Given the description of an element on the screen output the (x, y) to click on. 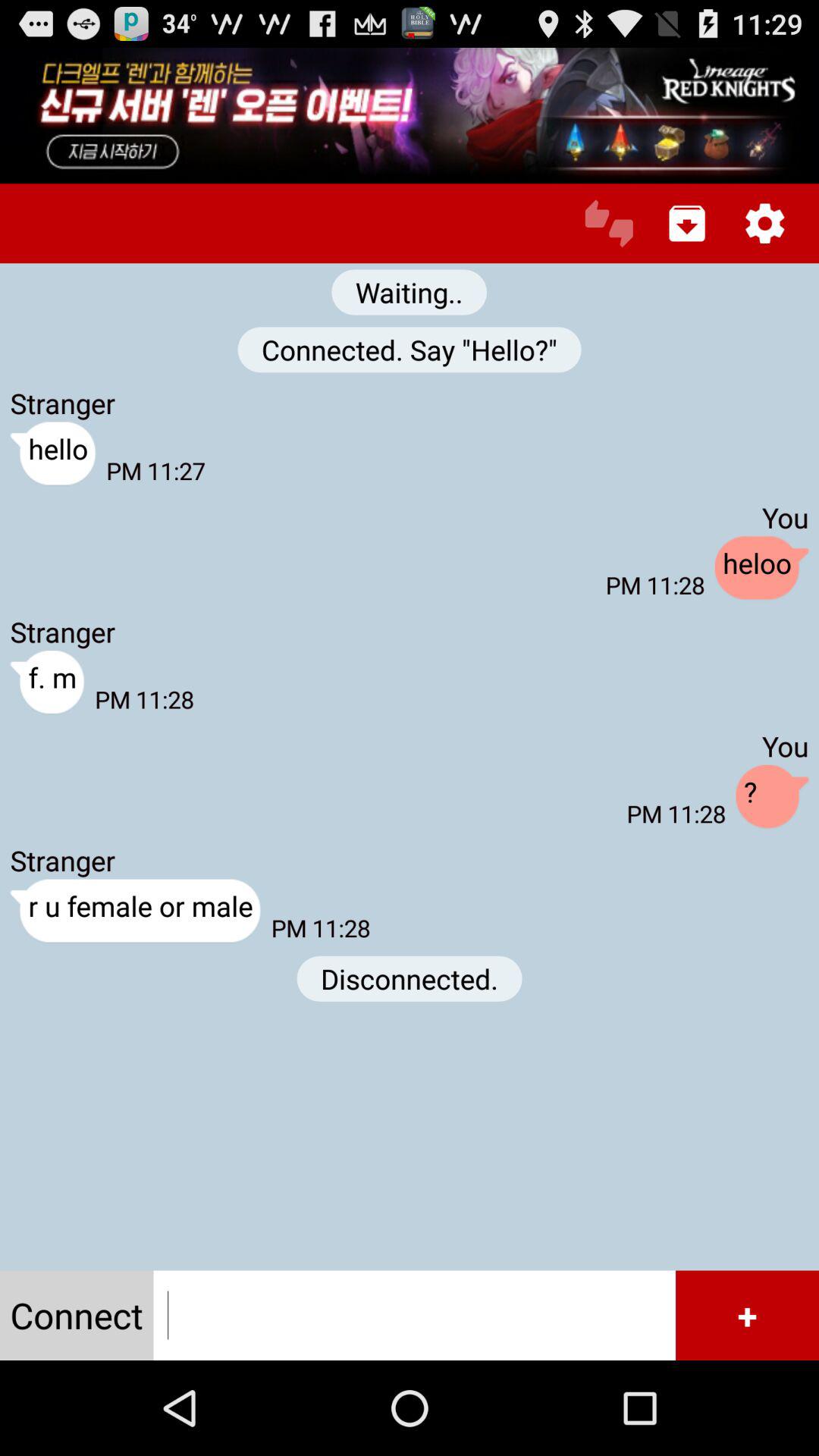
choose item below stranger item (47, 682)
